Given the description of an element on the screen output the (x, y) to click on. 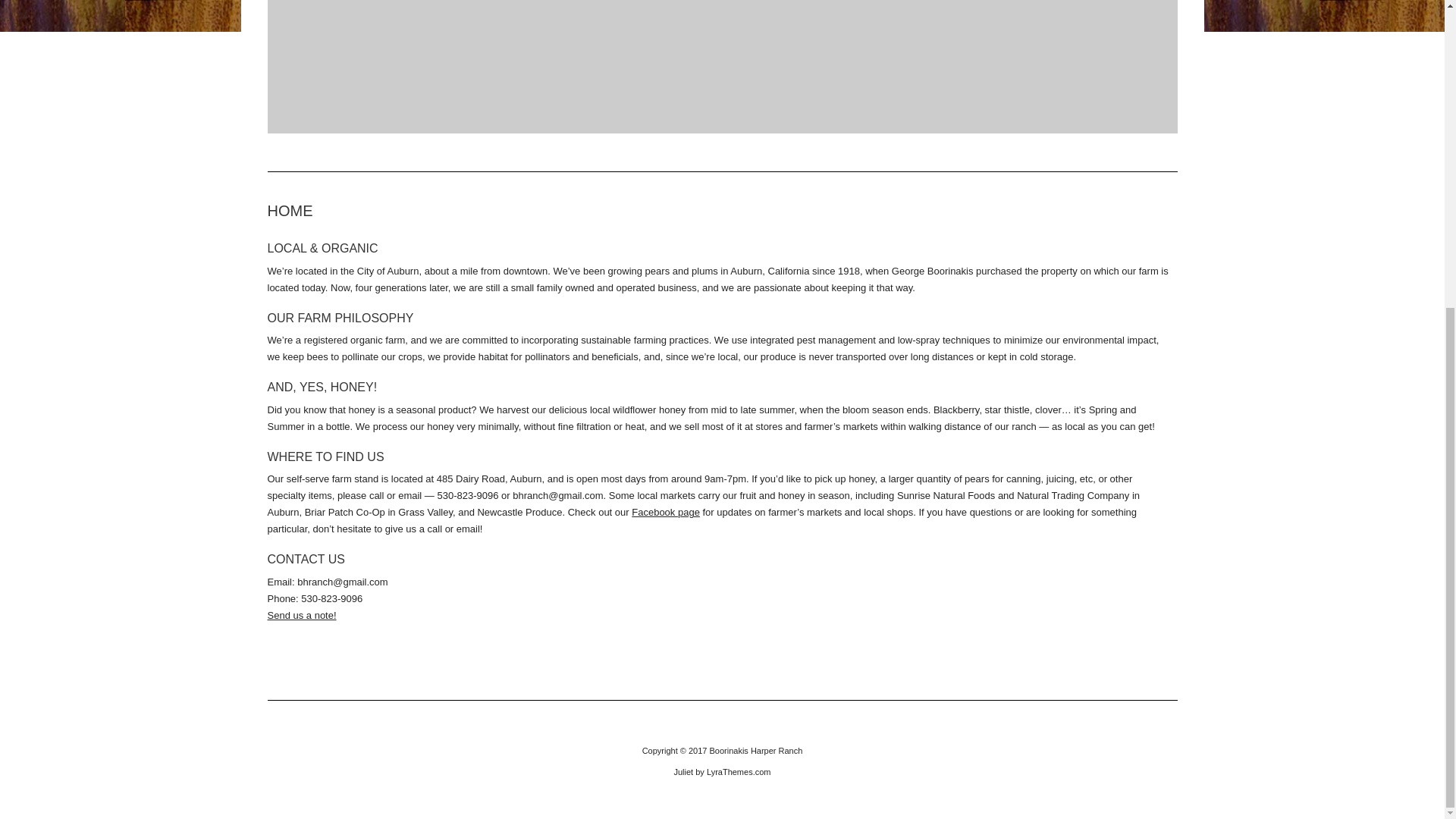
Facebook page (665, 511)
Juliet (682, 771)
Send us a note! (314, 623)
